Given the description of an element on the screen output the (x, y) to click on. 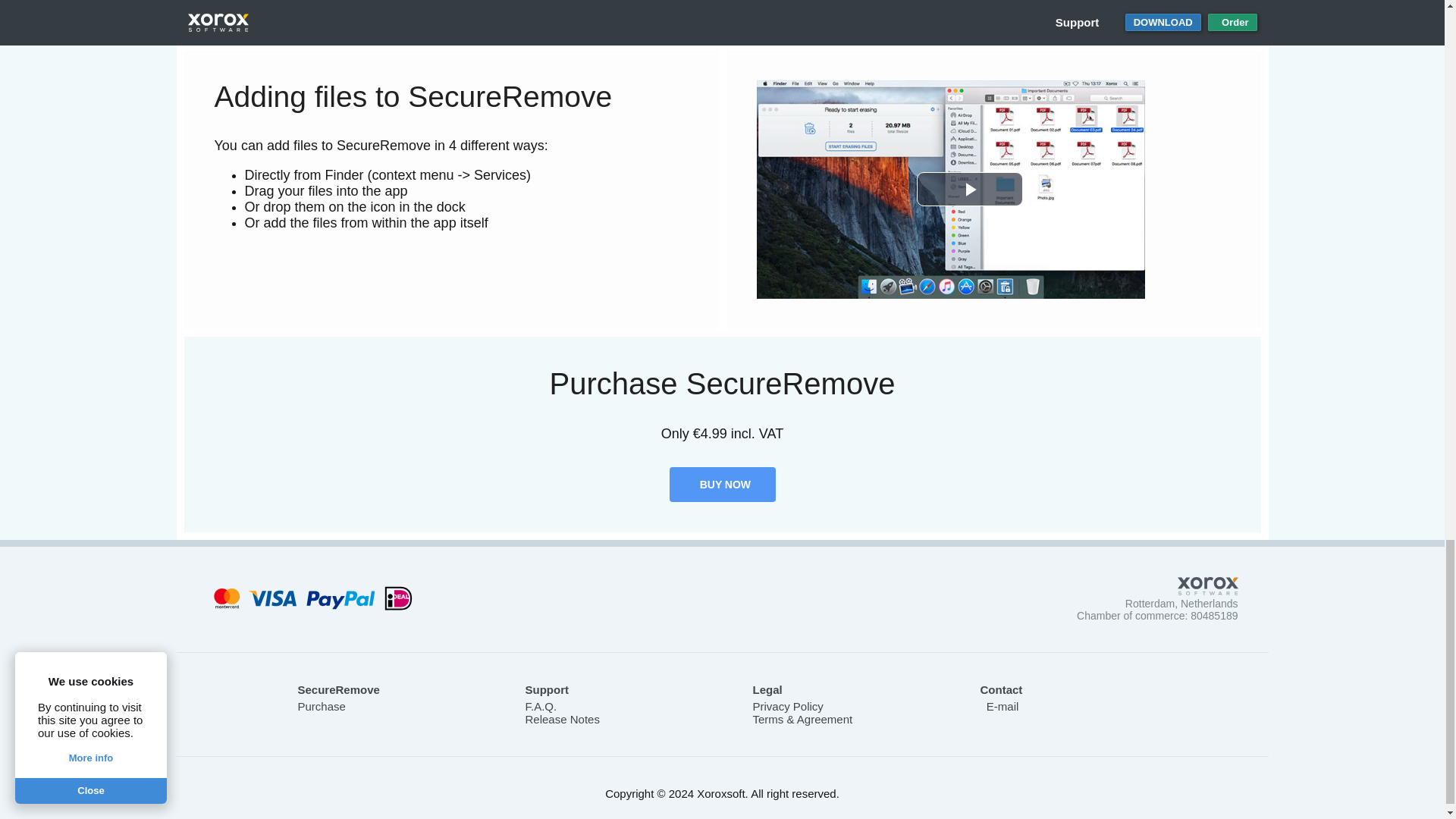
Release Notes (561, 718)
Play Video (968, 188)
  BUY NOW (721, 484)
Privacy Policy (787, 706)
Purchase (321, 706)
  E-mail (998, 706)
Support (546, 689)
Play Video (968, 188)
Legal (766, 689)
Contact (1000, 689)
F.A.Q. (540, 706)
SecureRemove (337, 689)
